Given the description of an element on the screen output the (x, y) to click on. 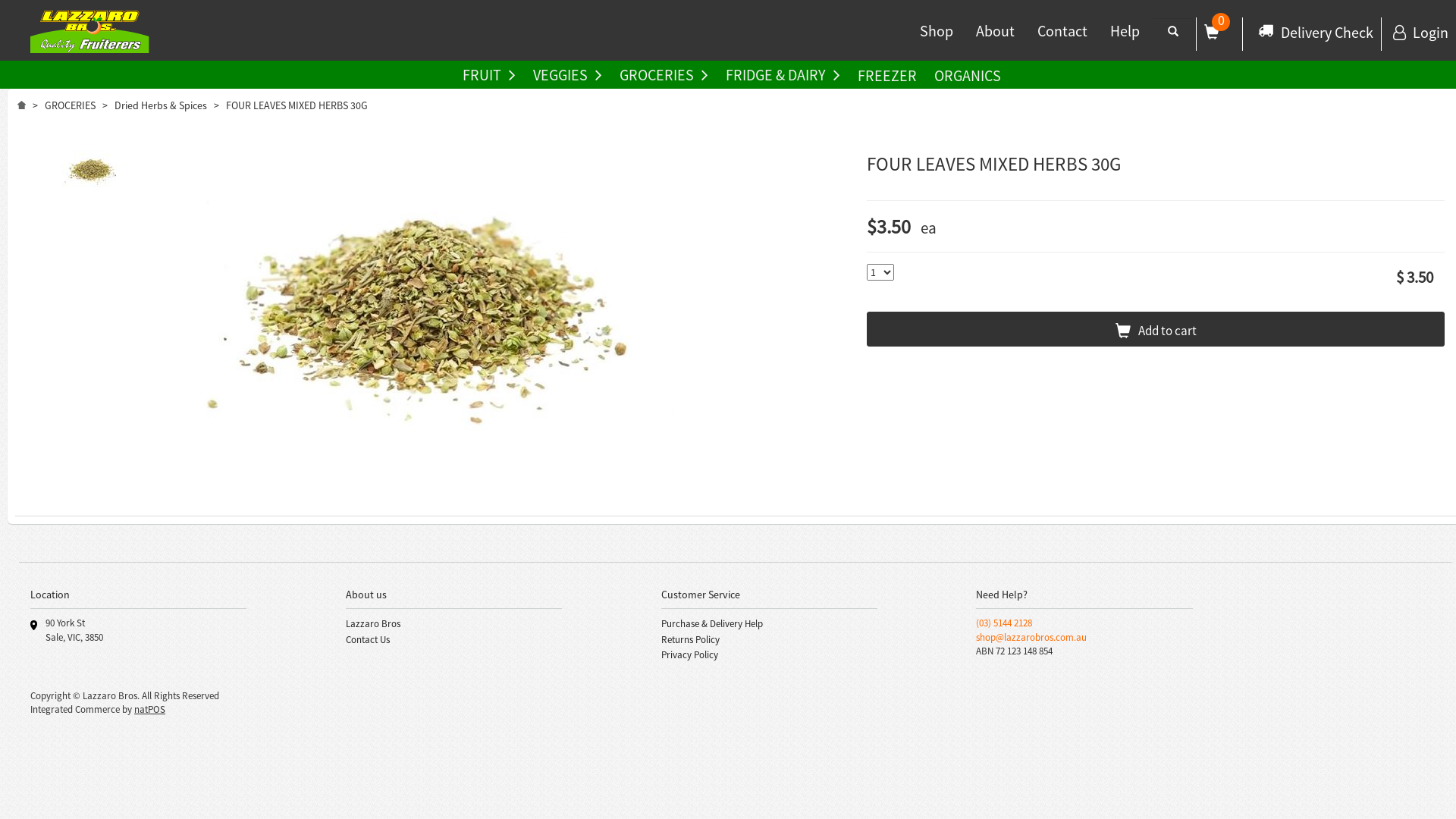
Dried Herbs & Spices Element type: text (160, 105)
Returns Policy Element type: text (690, 639)
Lazzaro Bros Element type: text (372, 623)
Picture of FOUR LEAVES MIXED HERBS 30G Element type: hover (91, 170)
Purchase & Delivery Help Element type: text (711, 623)
Contact Us Element type: text (367, 639)
FRUIT Element type: text (492, 75)
ORGANICS Element type: text (971, 74)
Help Element type: text (1124, 36)
FRIDGE & DAIRY Element type: text (786, 75)
Shop Element type: text (936, 36)
VEGGIES Element type: text (571, 75)
Contact Element type: text (1062, 36)
Add to cart Element type: text (1155, 328)
About Element type: text (994, 36)
GROCERIES Element type: text (69, 105)
GROCERIES Element type: text (667, 75)
natPOS Element type: text (149, 708)
Privacy Policy Element type: text (689, 654)
Login Element type: text (1420, 31)
FOUR LEAVES MIXED HERBS 30G Element type: hover (91, 174)
Picture of FOUR LEAVES MIXED HERBS 30G Element type: hover (428, 313)
Home Element type: hover (21, 103)
FREEZER Element type: text (890, 74)
